Given the description of an element on the screen output the (x, y) to click on. 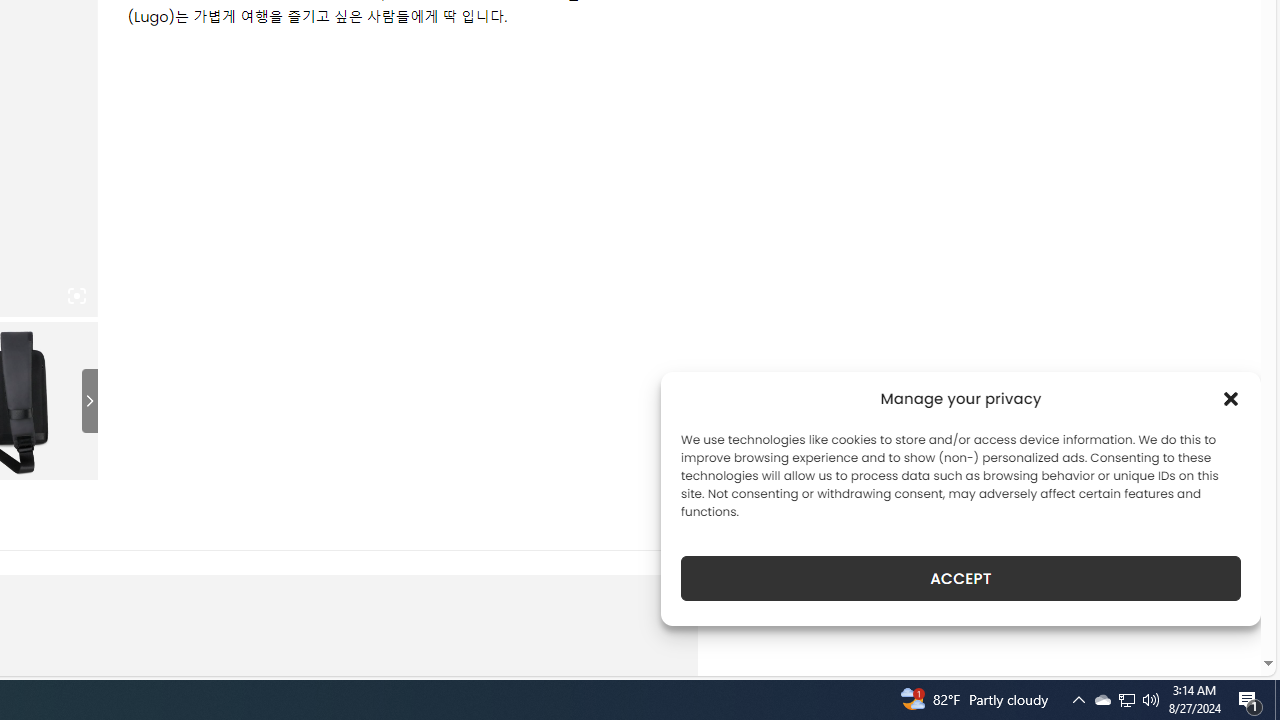
ACCEPT (960, 578)
Class: iconic-woothumbs-fullscreen (75, 296)
Class: cmplz-close (1231, 398)
